Given the description of an element on the screen output the (x, y) to click on. 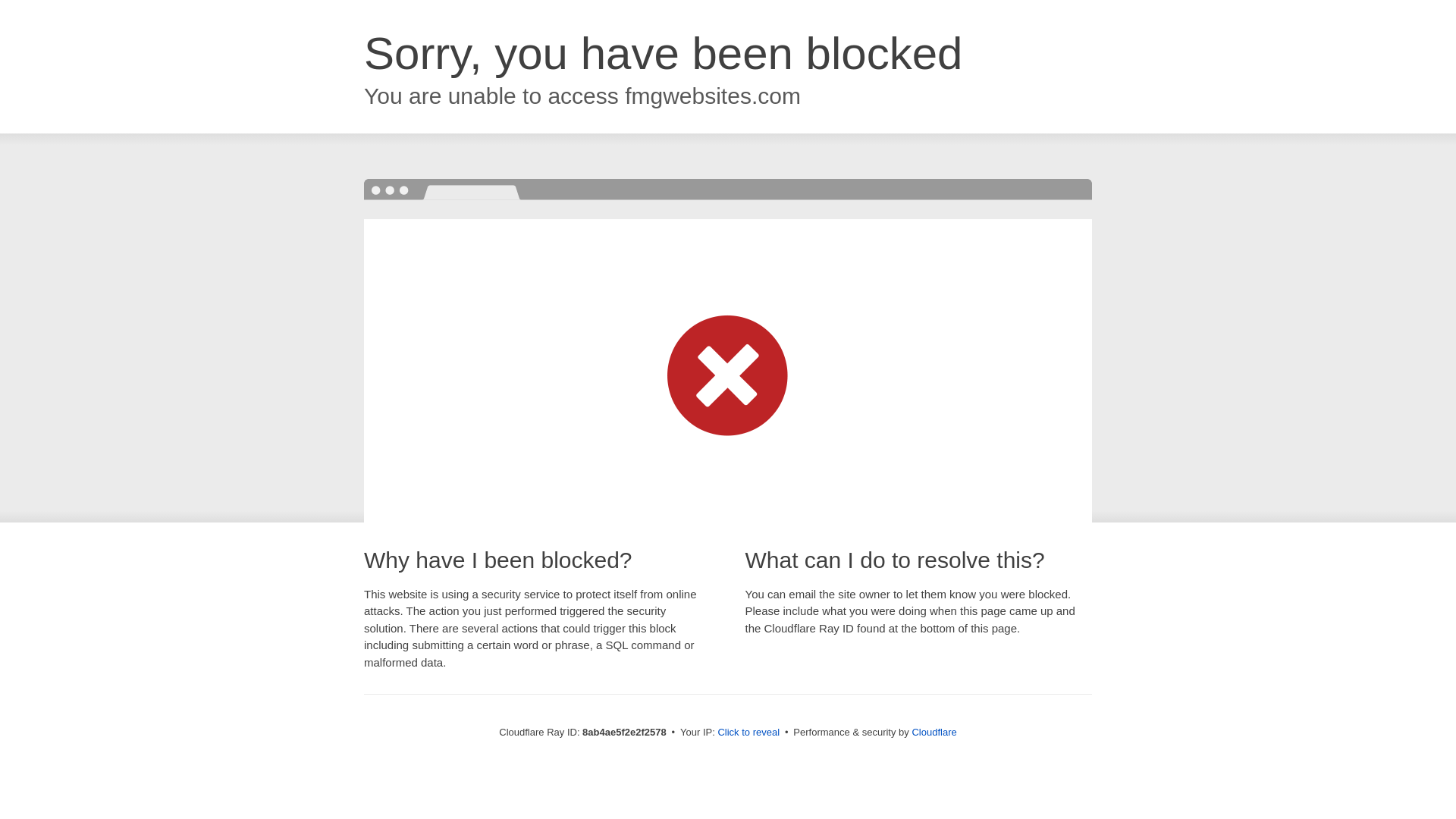
Click to reveal (747, 732)
Cloudflare (933, 731)
